Given the description of an element on the screen output the (x, y) to click on. 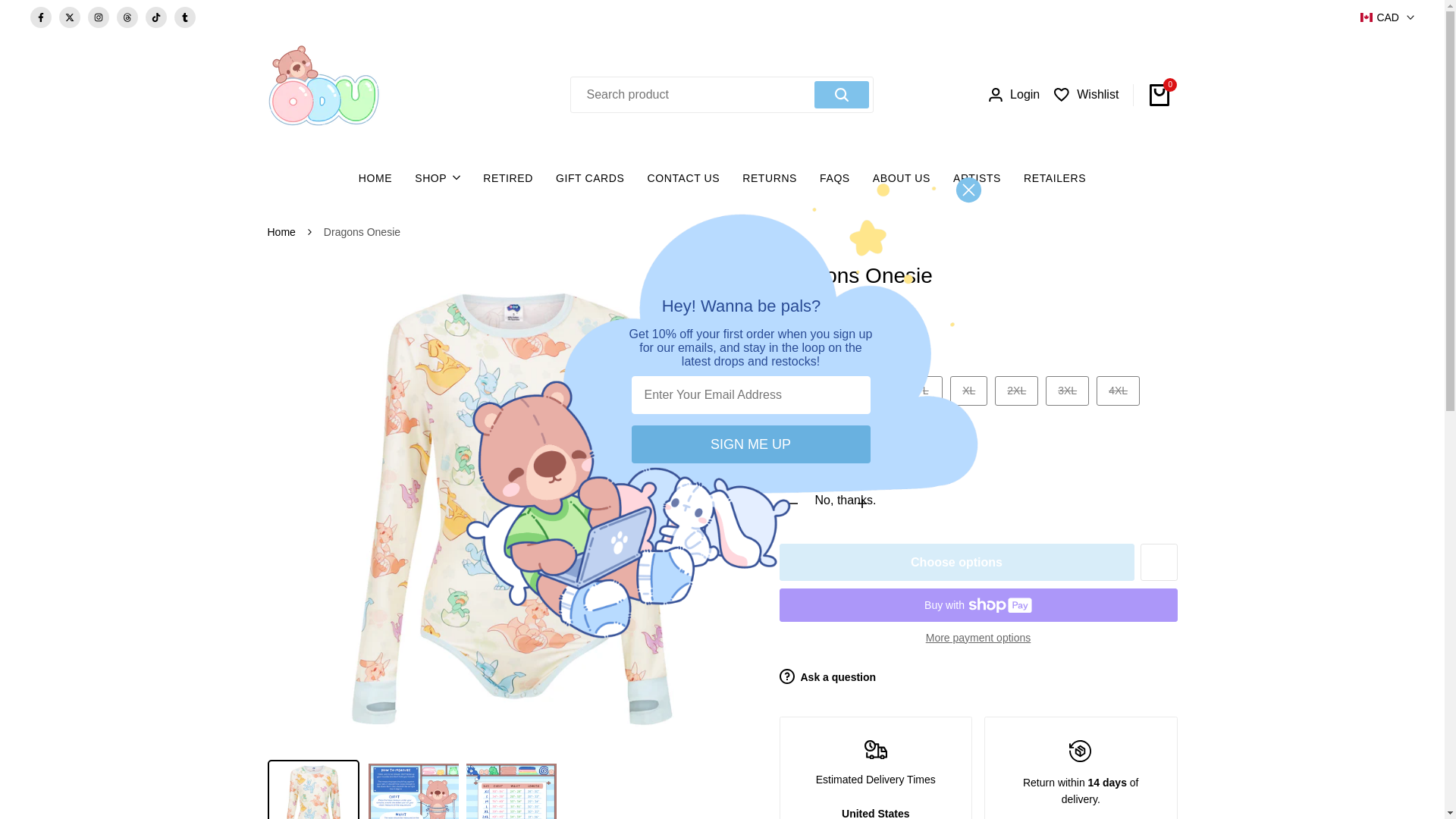
TikTok (156, 16)
Twitter (69, 16)
Threads (127, 16)
Facebook (40, 16)
Tumblr (184, 16)
Instagram (98, 16)
CAD (1386, 17)
